Given the description of an element on the screen output the (x, y) to click on. 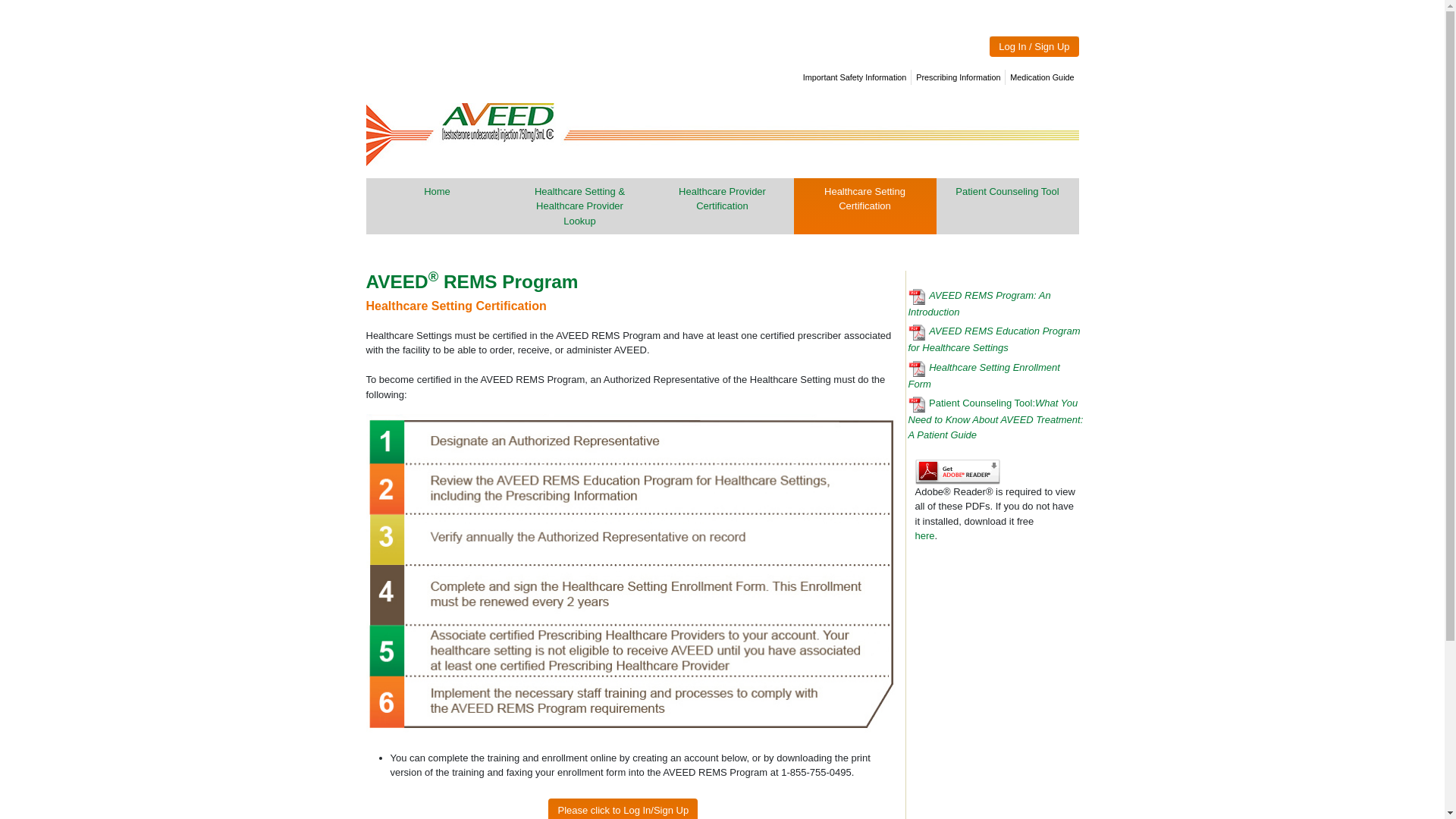
Healthcare Setting Enrollment Form (996, 375)
Healthcare Setting Certification (864, 205)
Patient Counseling Tool (1007, 190)
Get Adobe Reader (924, 535)
AVEED REMS Program: An Introduction (996, 303)
Medication Guide (1042, 76)
Prescribing Information (957, 76)
Home (436, 190)
Healthcare Setting Enrollment Form (996, 375)
AVEED REMS Education Program for Healthcare Settings (996, 339)
